Given the description of an element on the screen output the (x, y) to click on. 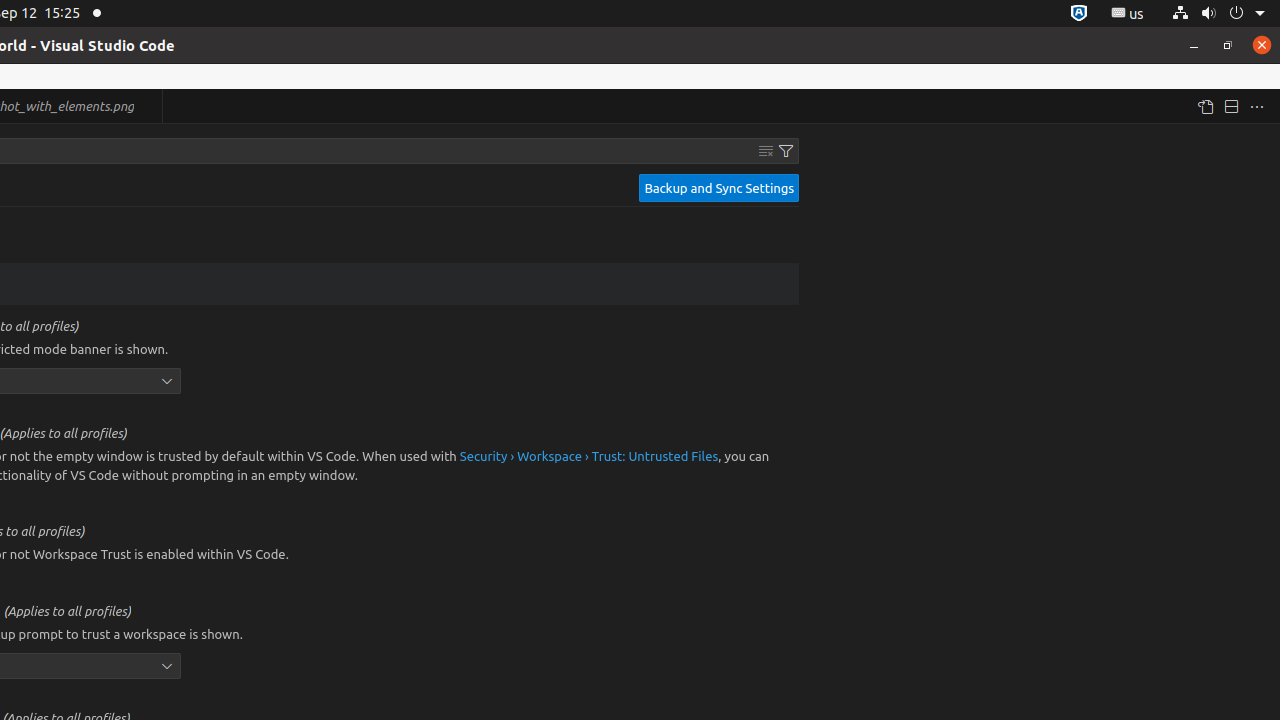
Open Settings (JSON) Element type: push-button (1205, 106)
Split Editor Right (Ctrl+\) [Alt] Split Editor Down Element type: push-button (1231, 106)
Filter Settings Element type: push-button (786, 151)
